Given the description of an element on the screen output the (x, y) to click on. 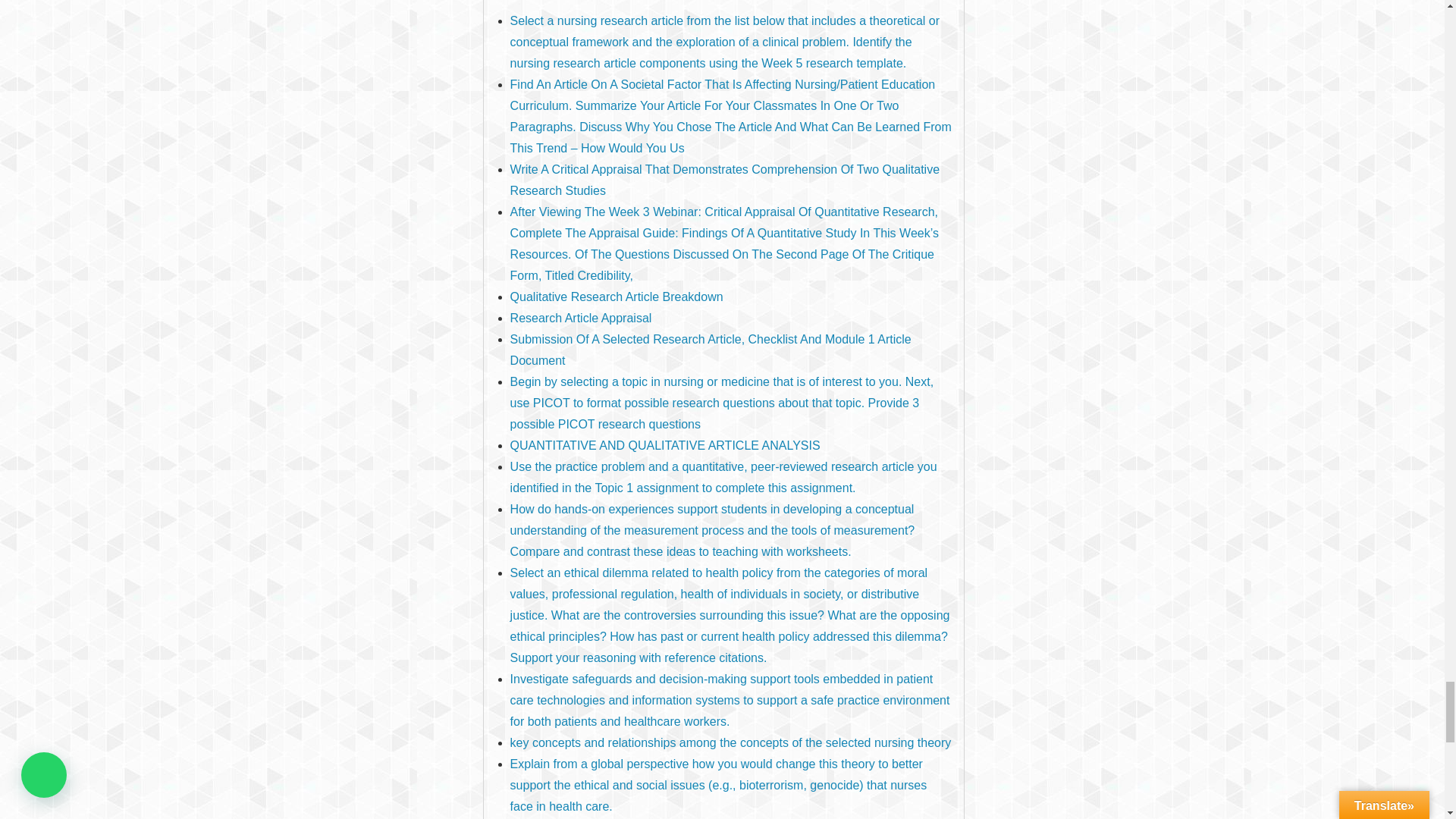
QUANTITATIVE AND QUALITATIVE ARTICLE ANALYSIS (666, 444)
Qualitative Research Article Breakdown (617, 295)
Qualitative Research Article Breakdown (617, 295)
QUANTITATIVE AND QUALITATIVE ARTICLE ANALYSIS (666, 444)
